Given the description of an element on the screen output the (x, y) to click on. 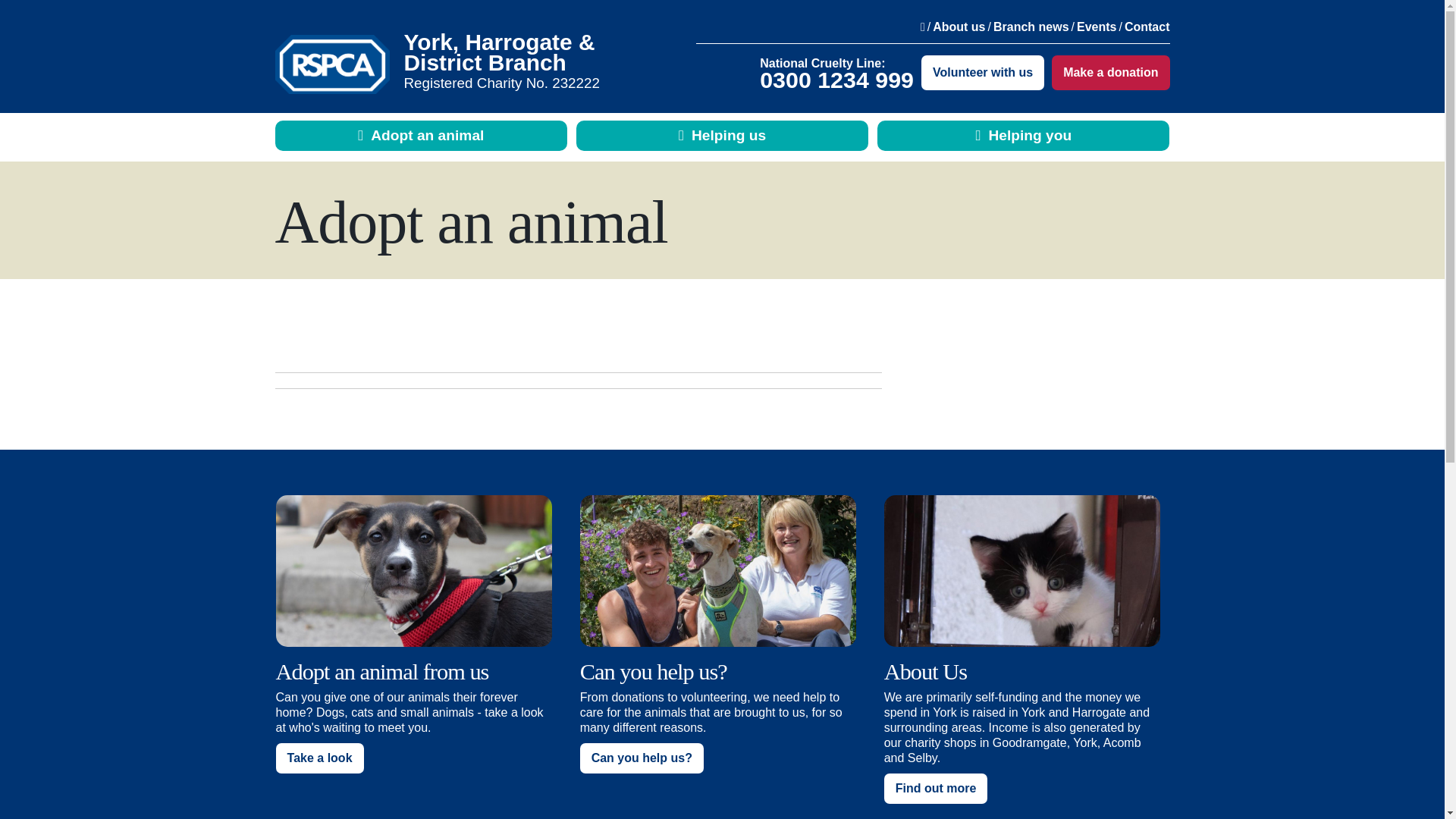
Contact (1147, 26)
About us (959, 26)
0300 1234 999 (837, 79)
Volunteer with us (982, 72)
Adopt an animal (421, 135)
Helping us (721, 135)
Make a donation (1110, 72)
Branch news (1030, 26)
Helping you (1023, 135)
Events (1096, 26)
